Given the description of an element on the screen output the (x, y) to click on. 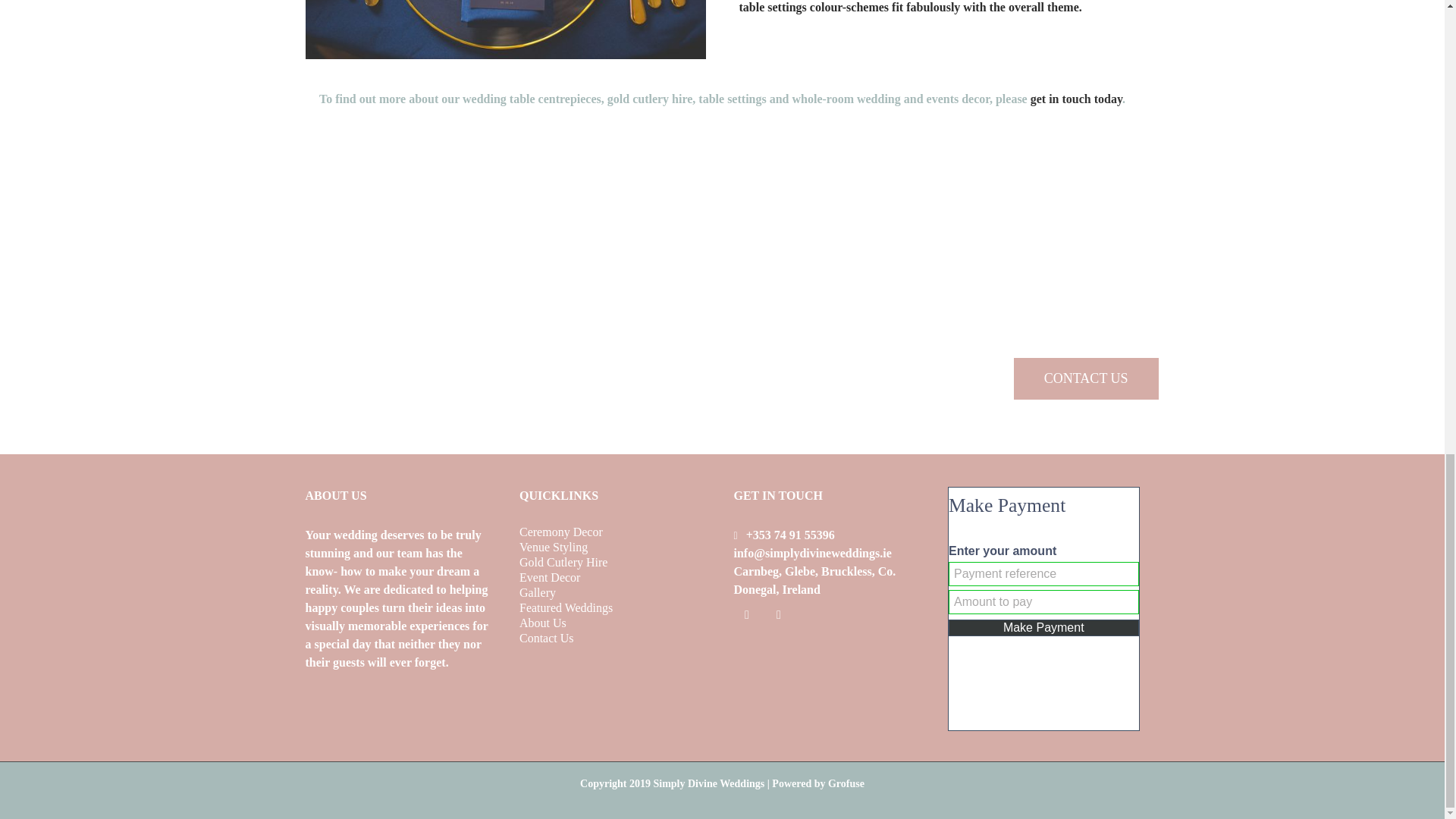
Page 2 (721, 99)
CONTACT US (1085, 378)
Grofuse (846, 783)
get in touch today (1076, 98)
Carnbeg, Glebe, Bruckless, Co. Donegal, Ireland (814, 580)
Contact Us (615, 638)
Ceremony Decor (615, 532)
Page 1 (1085, 266)
Make Payment (1043, 627)
Page 2 (400, 598)
